Given the description of an element on the screen output the (x, y) to click on. 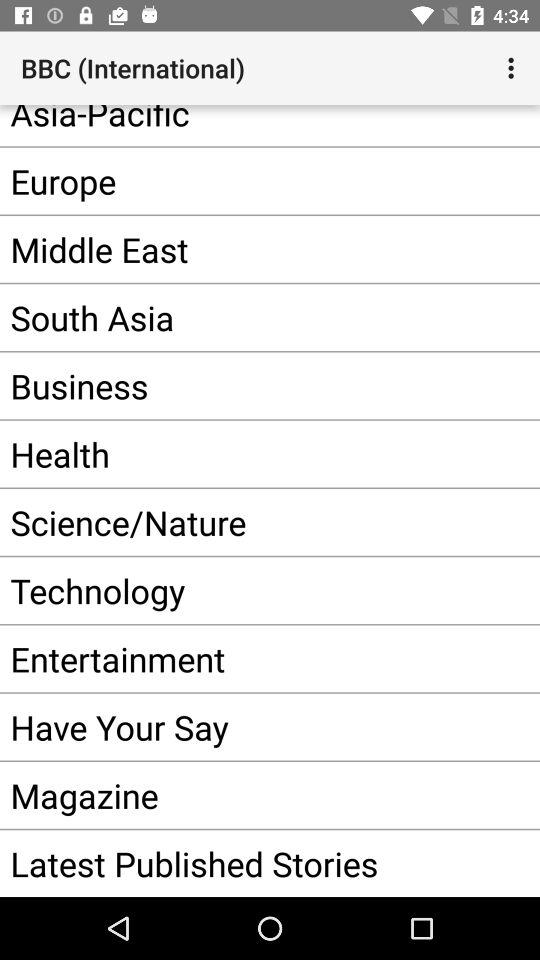
launch the item above health app (240, 385)
